Given the description of an element on the screen output the (x, y) to click on. 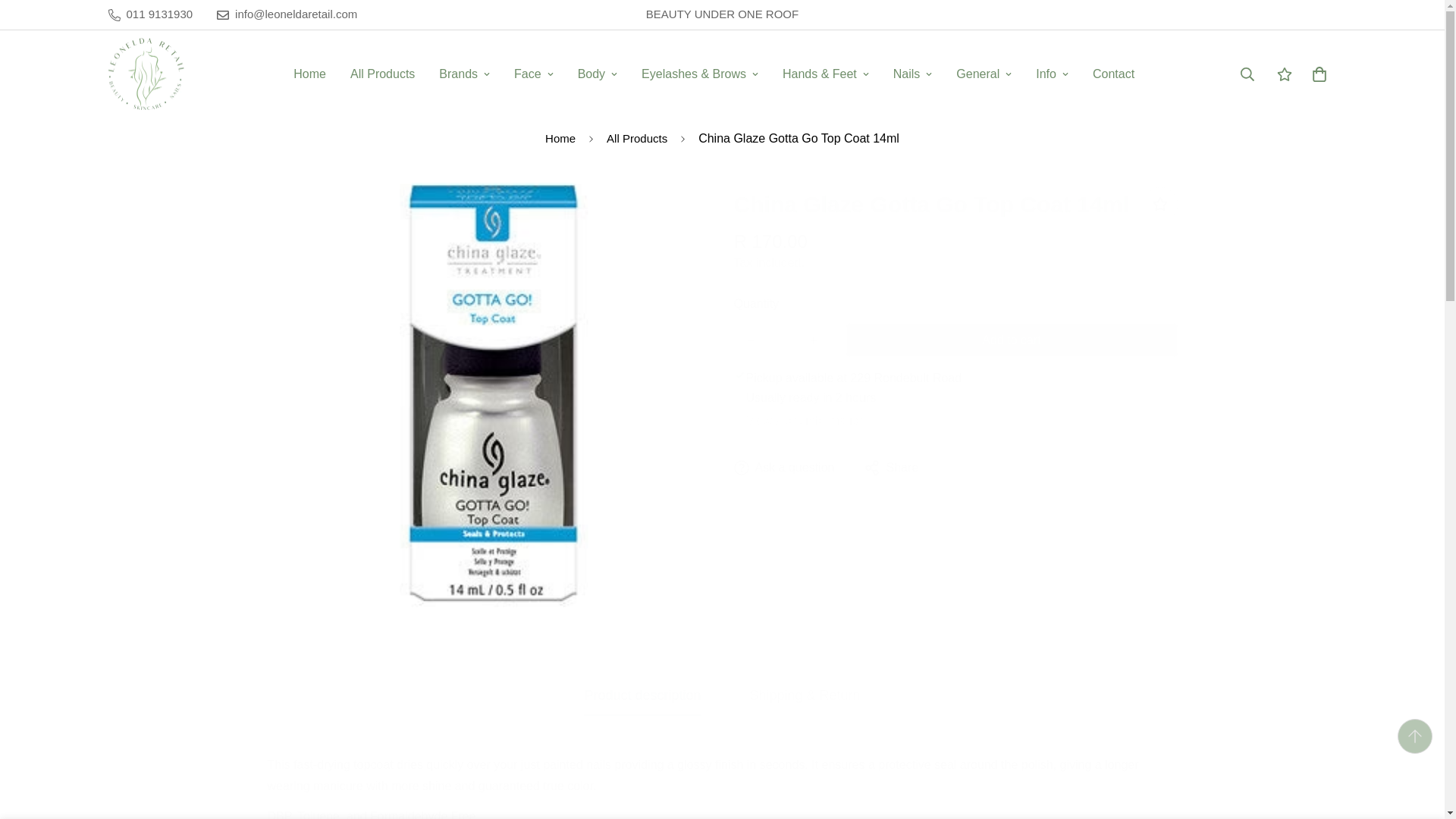
011 9131930 (150, 14)
1 (782, 339)
Back to the home page (560, 138)
